Given the description of an element on the screen output the (x, y) to click on. 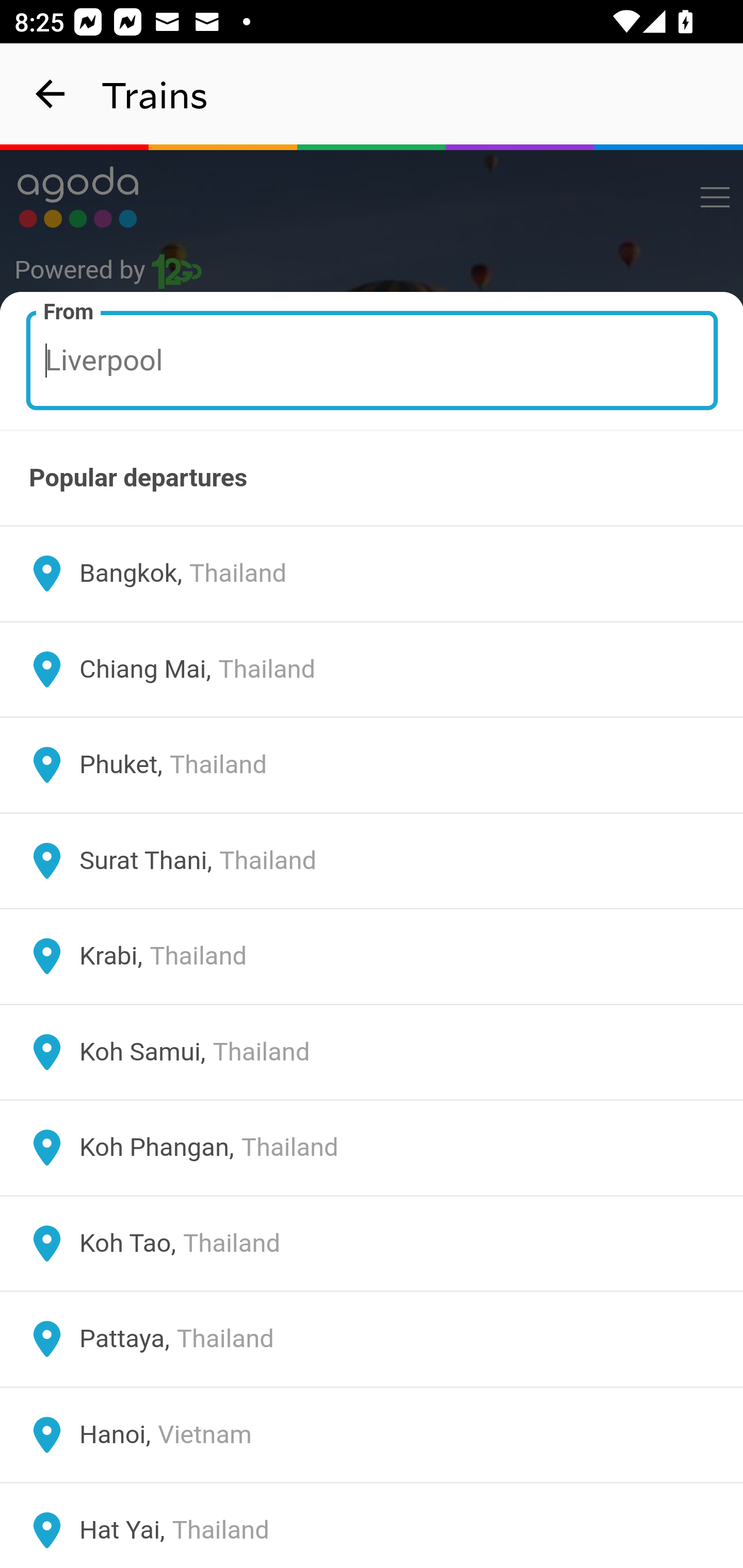
navigation_button (50, 93)
Popular departures (371, 477)
Bangkok,Thailand (371, 573)
Chiang Mai,Thailand (371, 669)
Phuket,Thailand (371, 764)
Surat Thani,Thailand (371, 860)
Krabi,Thailand (371, 956)
Koh Samui,Thailand (371, 1051)
Koh Phangan,Thailand (371, 1147)
Koh Tao,Thailand (371, 1243)
Pattaya,Thailand (371, 1339)
Hanoi,Vietnam (371, 1434)
Hat Yai,Thailand (371, 1524)
